Given the description of an element on the screen output the (x, y) to click on. 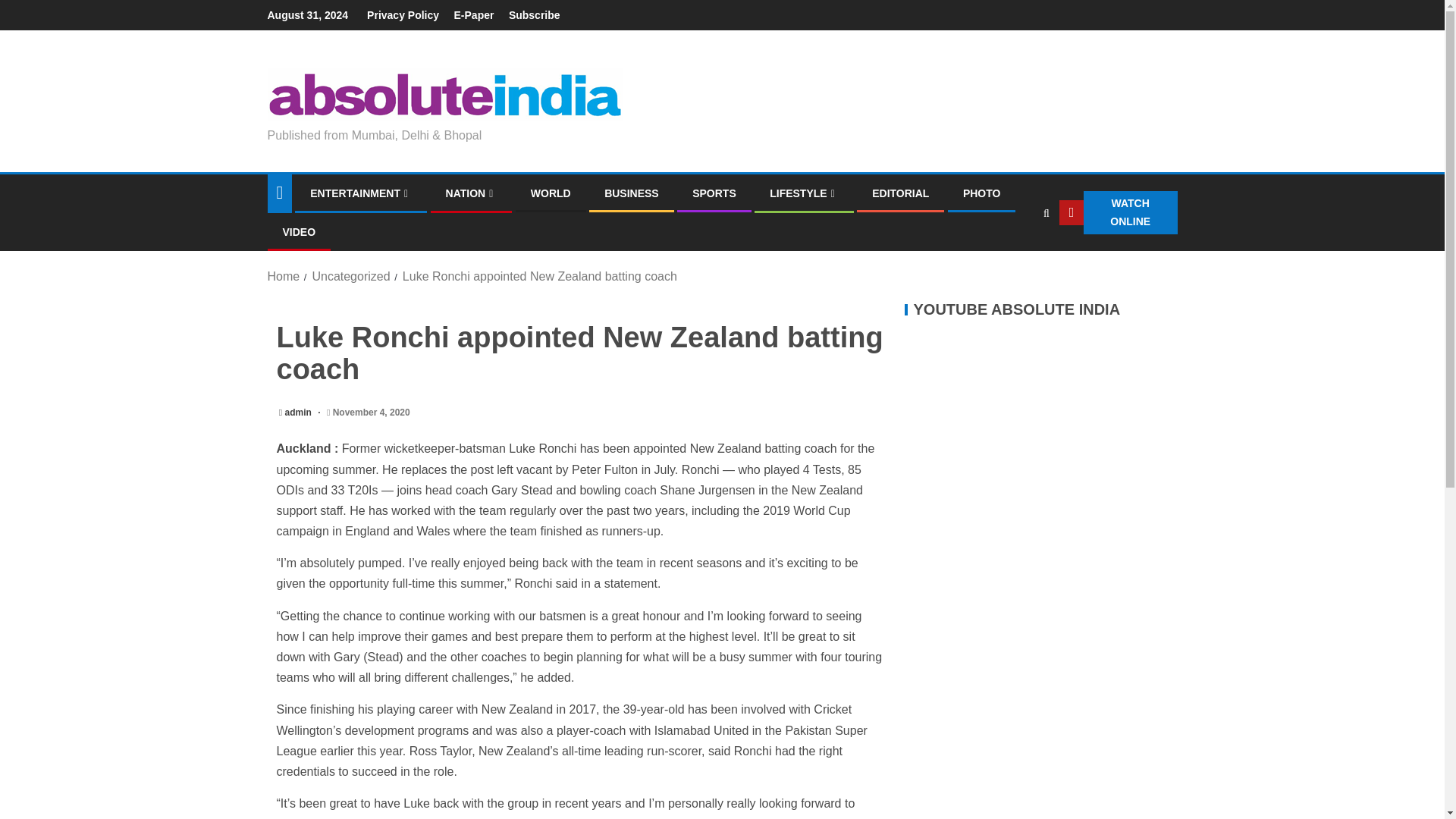
VIDEO (298, 232)
E-Paper (474, 15)
BUSINESS (631, 193)
SPORTS (714, 193)
admin (299, 412)
Luke Ronchi appointed New Zealand batting coach (540, 276)
Home (282, 276)
EDITORIAL (900, 193)
WATCH ONLINE (1118, 212)
Privacy Policy (402, 15)
